Given the description of an element on the screen output the (x, y) to click on. 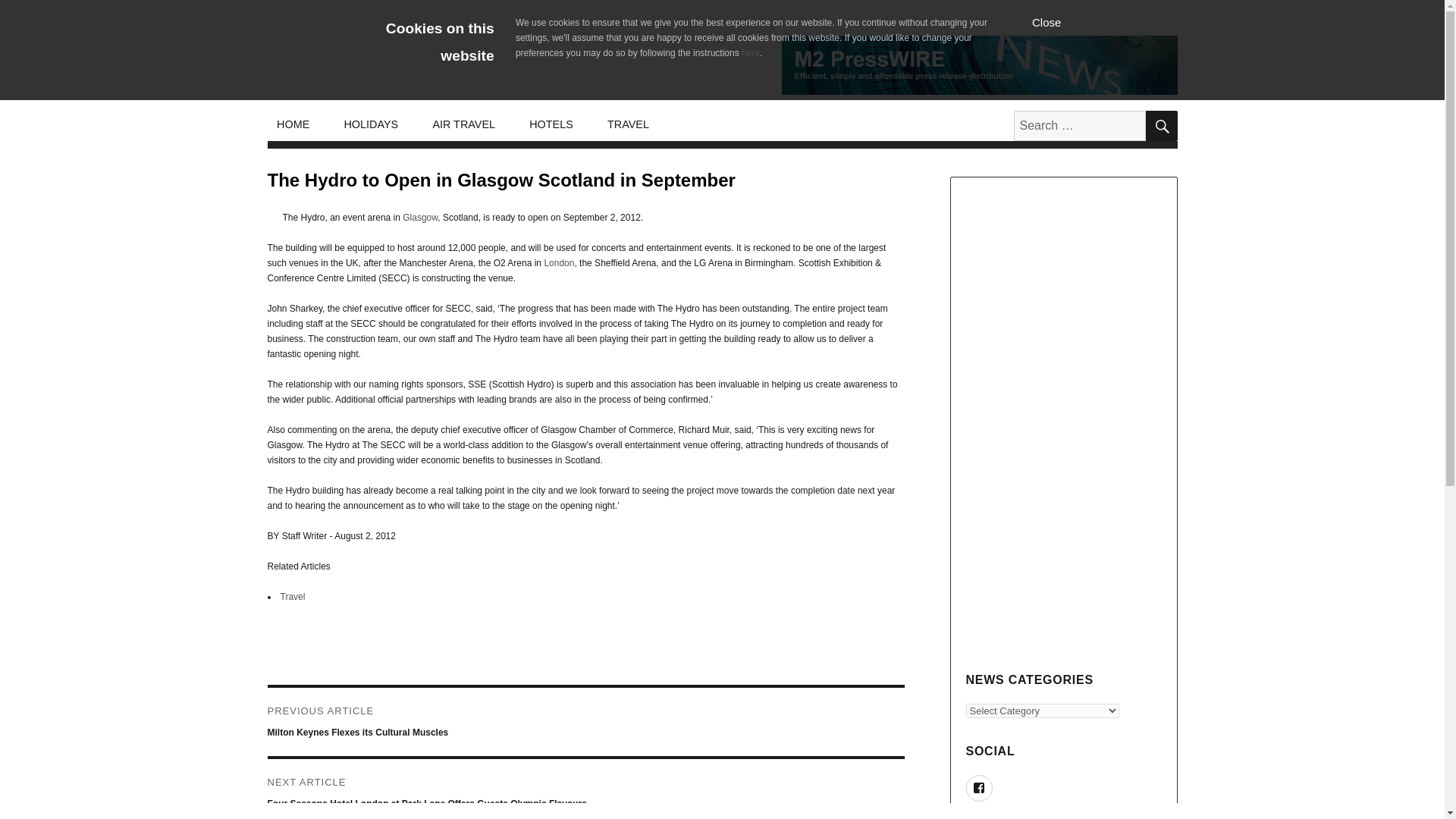
SEARCH (1160, 125)
here (750, 52)
Glasgow (420, 217)
HOME (292, 124)
AIR TRAVEL (464, 124)
Close (1046, 21)
Travel (293, 596)
HOTELS (551, 124)
